Given the description of an element on the screen output the (x, y) to click on. 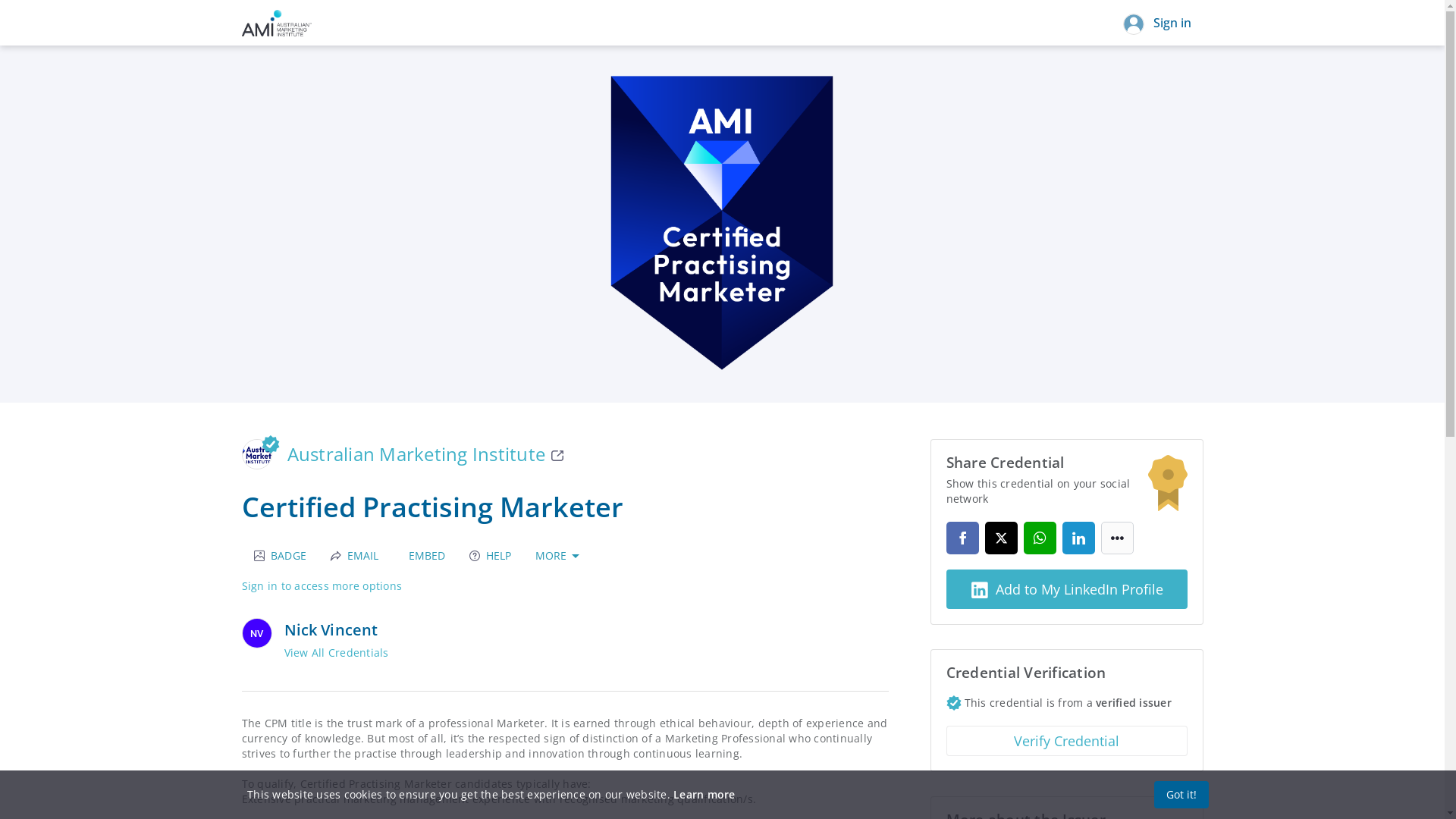
Learn more Element type: text (704, 794)
Sign in Element type: text (1156, 22)
EMBED Element type: text (423, 555)
View All Credentials Element type: text (335, 652)
Sign in to access more options Element type: text (321, 585)
Got it! Element type: text (1181, 794)
Add to My LinkedIn Profile Element type: text (1066, 588)
Australian Marketing Institute Element type: text (424, 453)
BADGE Element type: text (279, 555)
MORE
arrow_drop_down Element type: text (559, 555)
HELP Element type: text (490, 555)
EMAIL Element type: text (354, 555)
Verify Credential Element type: text (1066, 740)
